Given the description of an element on the screen output the (x, y) to click on. 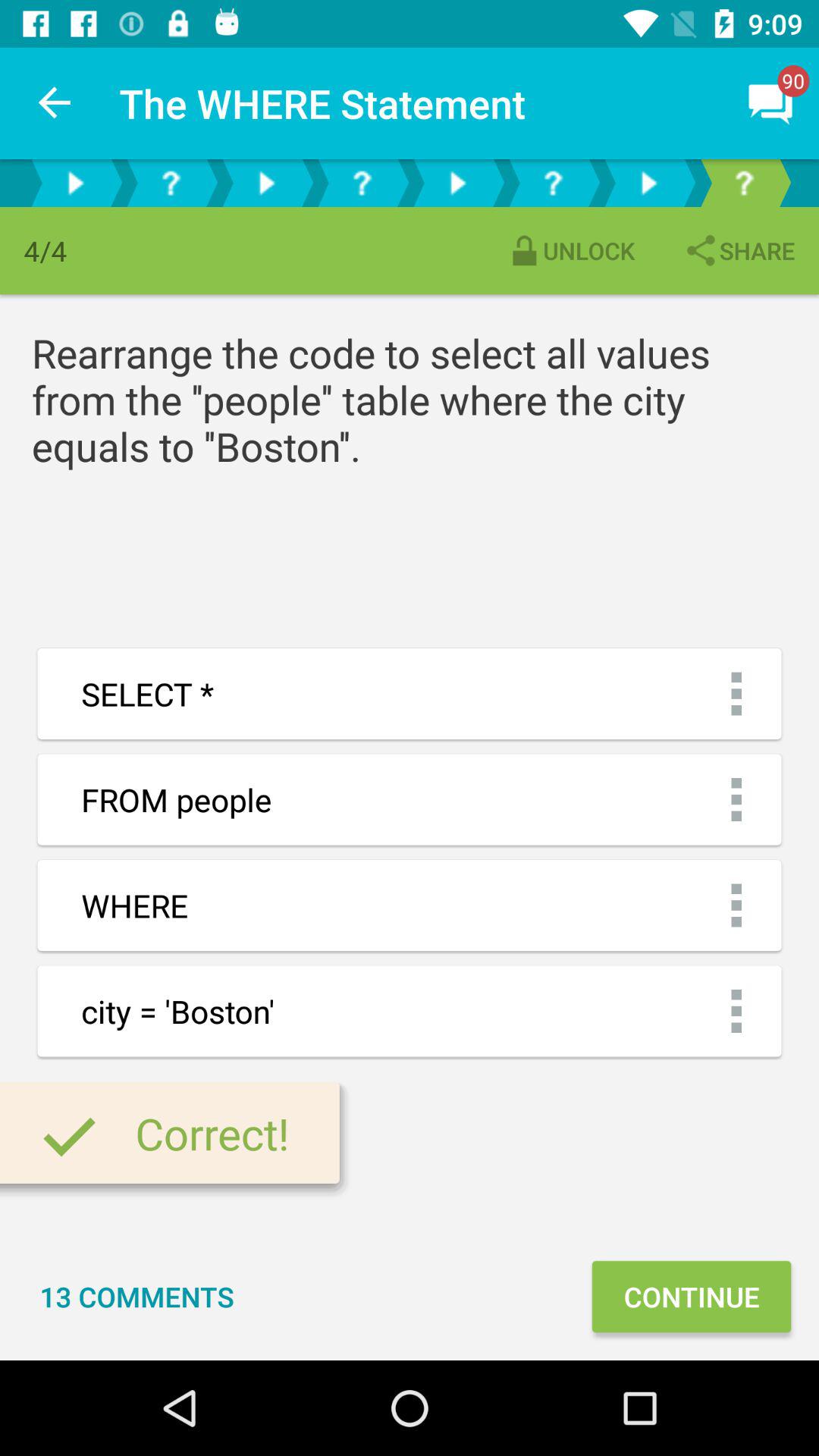
help (743, 183)
